Given the description of an element on the screen output the (x, y) to click on. 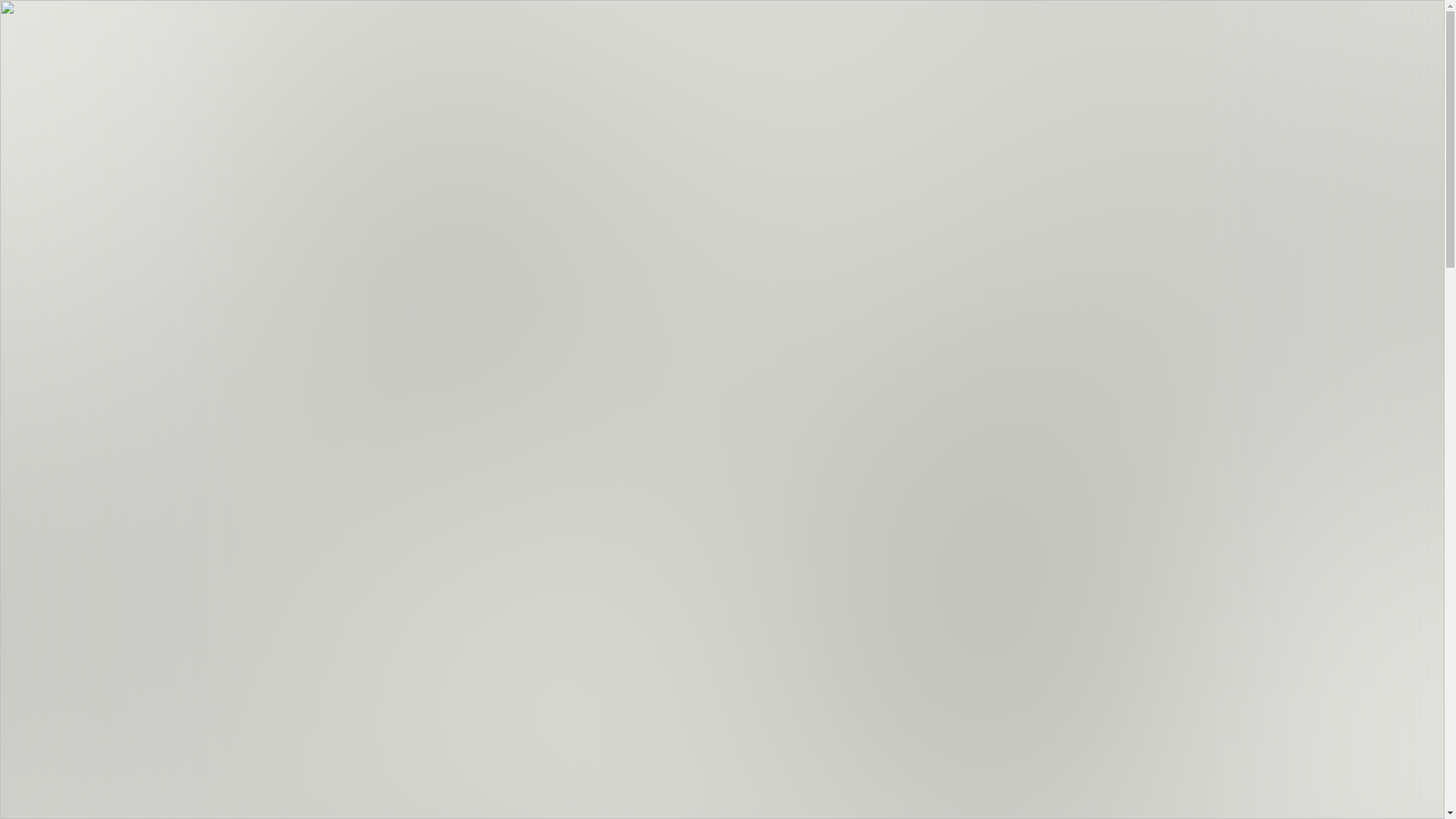
Memo (21, 29)
